Given the description of an element on the screen output the (x, y) to click on. 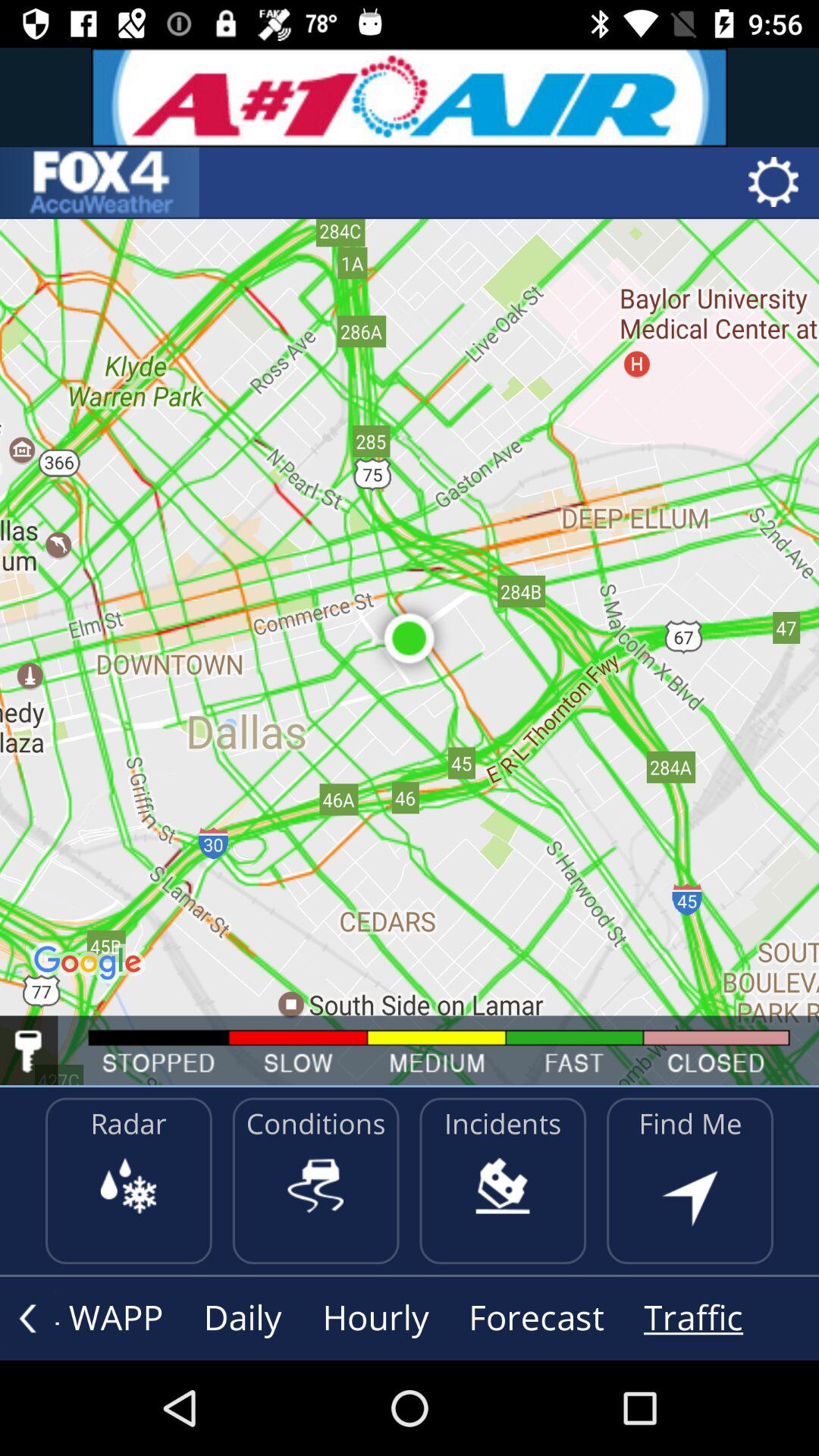
tap item at the top left corner (99, 182)
